Given the description of an element on the screen output the (x, y) to click on. 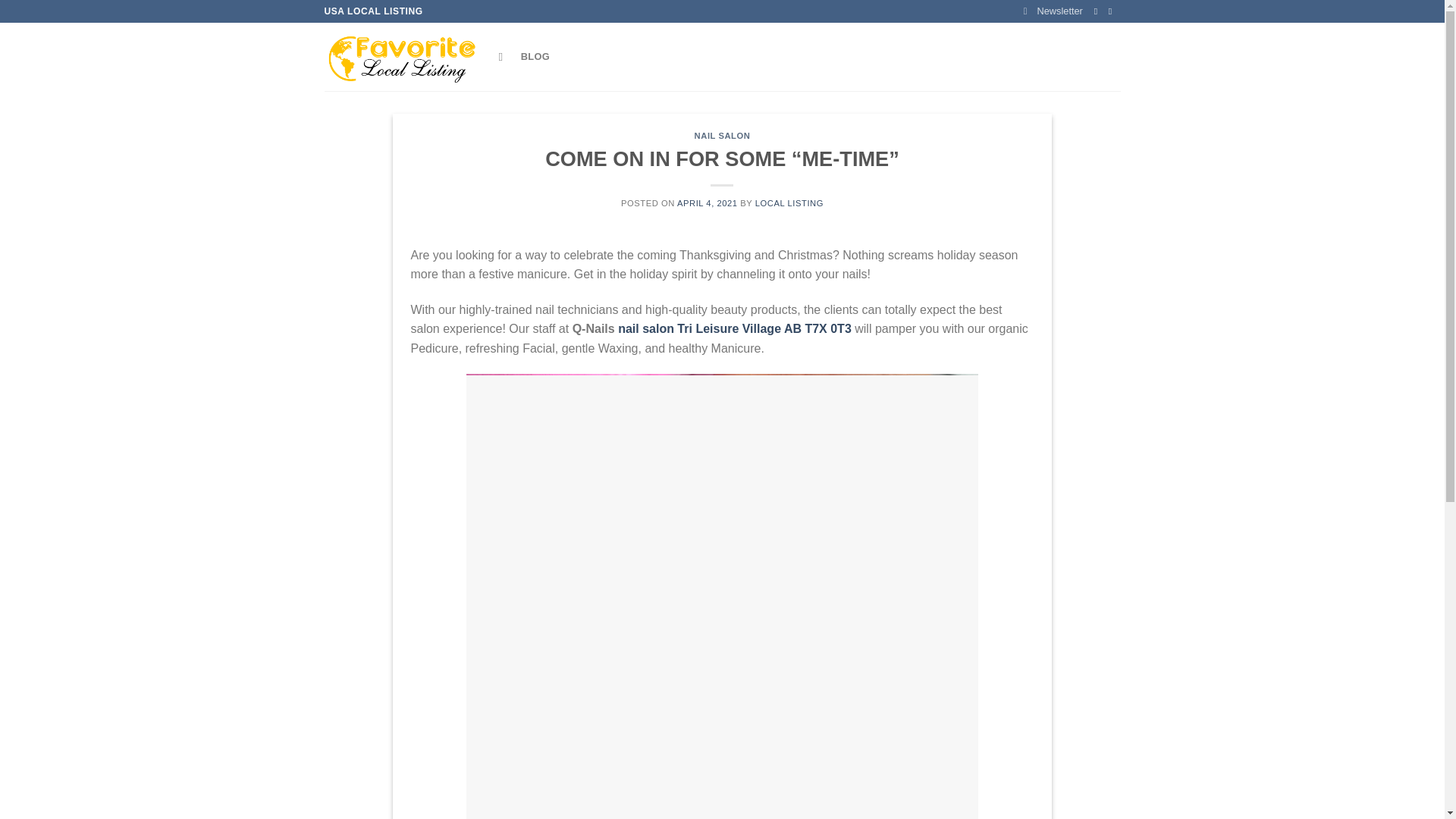
LOCAL LISTING (789, 203)
NAIL SALON (722, 135)
nail salon Tri Leisure Village AB T7X 0T3 (734, 328)
Newsletter (1053, 11)
BLOG (535, 56)
APRIL 4, 2021 (707, 203)
